Given the description of an element on the screen output the (x, y) to click on. 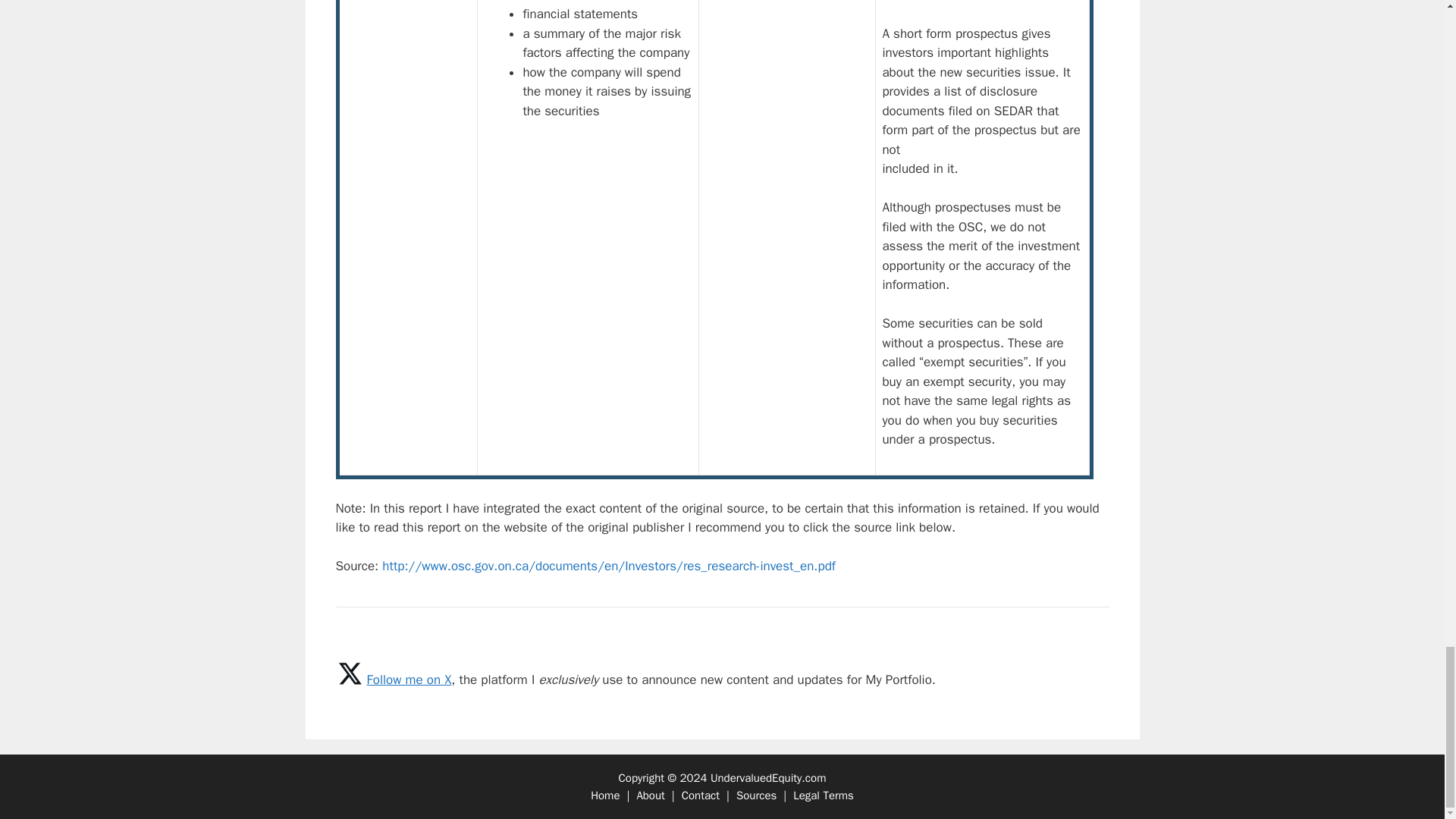
Home (605, 795)
About (649, 795)
Follow me on X (408, 679)
Contact (700, 795)
Sources (756, 795)
Legal Terms (823, 795)
